Given the description of an element on the screen output the (x, y) to click on. 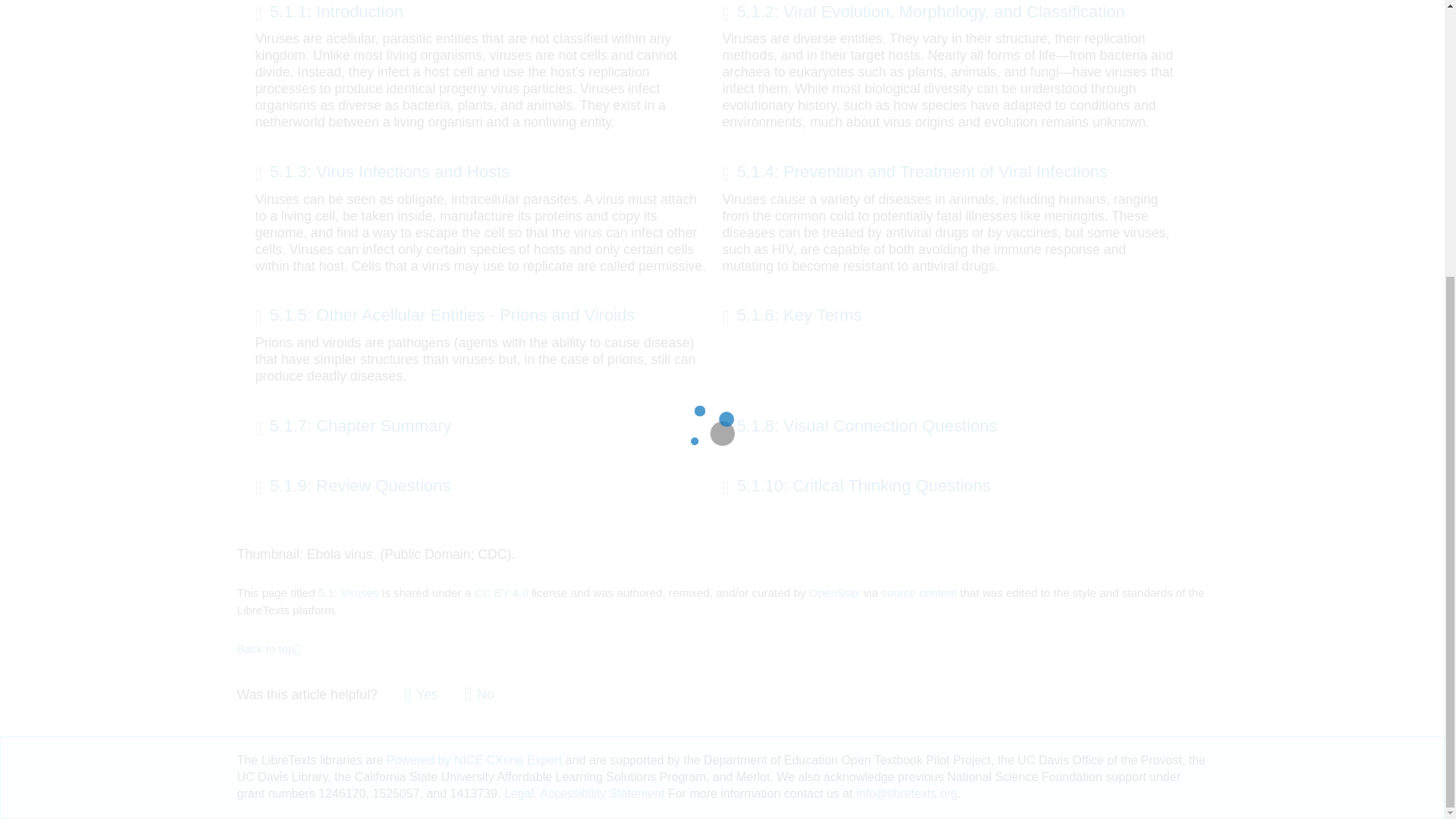
5.1.6: Key Terms (791, 316)
5.1.3: Virus Infections and Hosts (381, 173)
5.1.4: Prevention and Treatment of Viral Infections (914, 173)
5.1.7: Chapter Summary (352, 427)
5.1.1: Introduction (328, 13)
5.1.5: Other Acellular Entities - Prions and Viroids (444, 316)
5.1.8: Visual Connection Questions (859, 427)
5.1.2: Viral Evolution, Morphology, and Classification (923, 13)
